Given the description of an element on the screen output the (x, y) to click on. 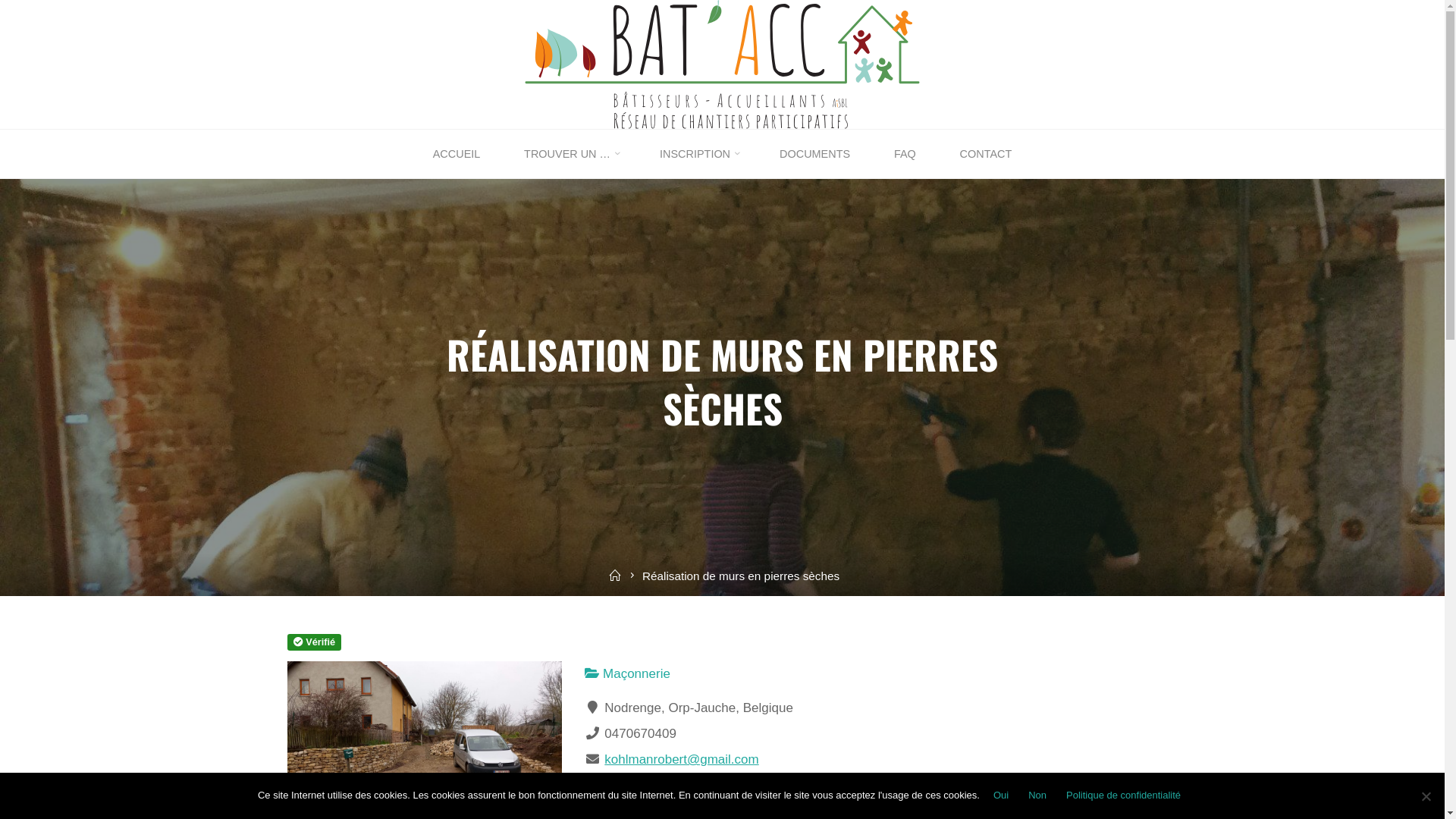
CONTACT Element type: text (986, 153)
Home Element type: text (614, 575)
FAQ Element type: text (905, 153)
DOCUMENTS Element type: text (814, 153)
Bat'Acc Element type: hover (721, 63)
ACCUEIL Element type: text (456, 153)
INSCRIPTION Element type: text (697, 153)
Non Element type: hover (1425, 795)
Oui Element type: text (1000, 795)
kohlmanrobert@gmail.com Element type: text (681, 759)
Non Element type: text (1037, 795)
